Given the description of an element on the screen output the (x, y) to click on. 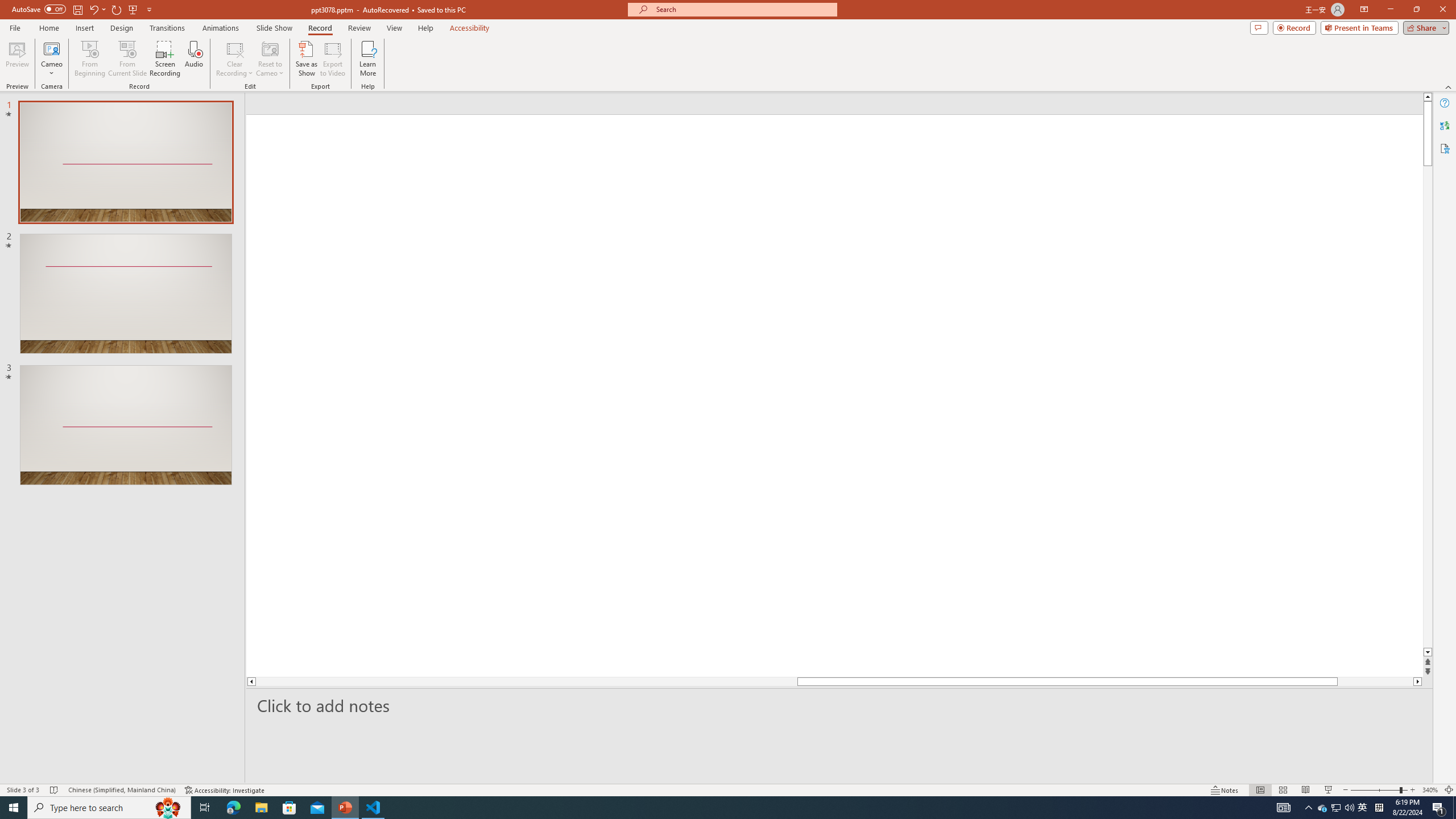
Zoom 340% (1430, 790)
